Given the description of an element on the screen output the (x, y) to click on. 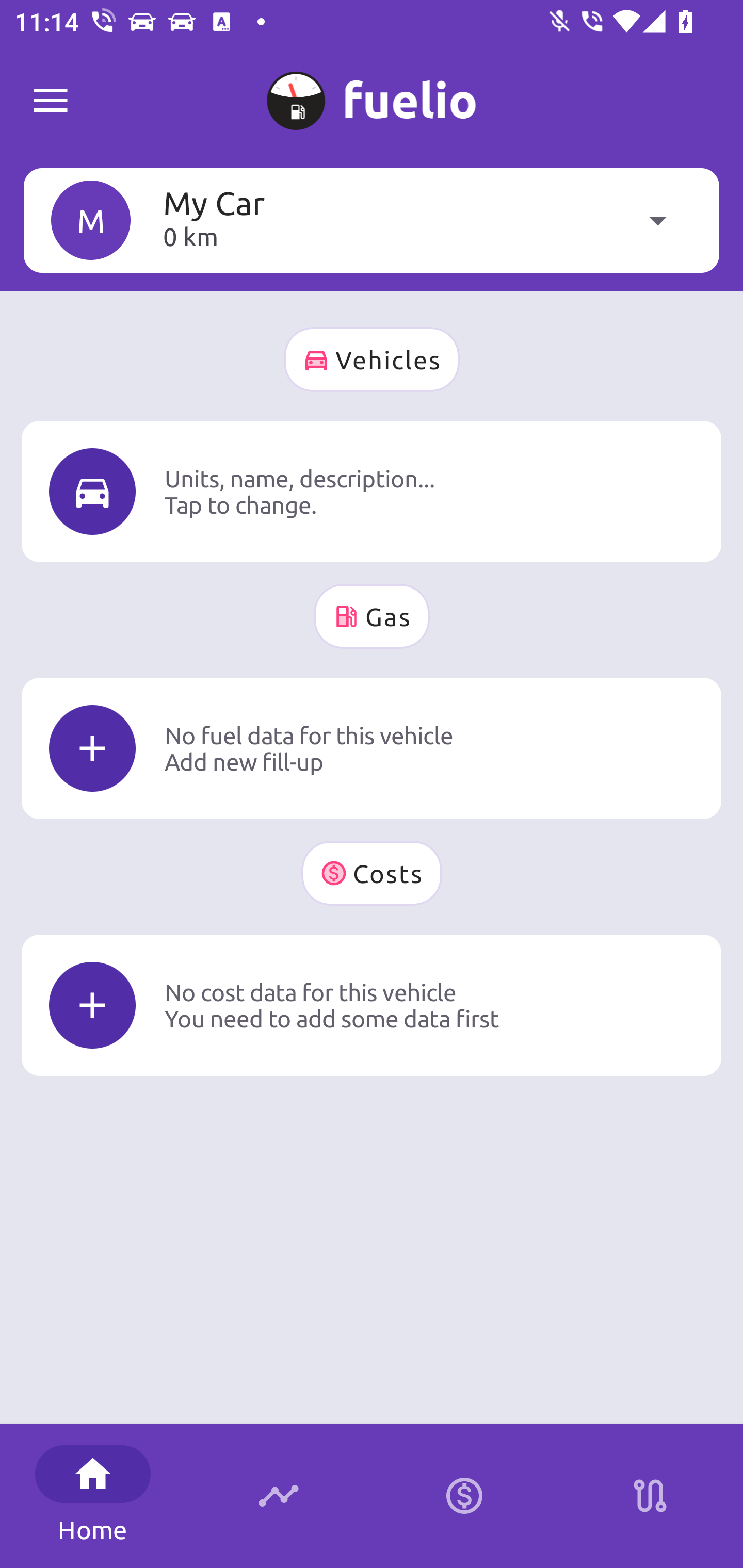
Fuelio (50, 101)
M My Car 0 km (371, 219)
Vehicles (371, 359)
Icon Units, name, description...
Tap to change. (371, 491)
Icon (92, 491)
Gas (371, 616)
Icon No fuel data for this vehicle
Add new fill-up (371, 747)
Icon (92, 748)
Costs (371, 873)
Icon (92, 1004)
Timeline (278, 1495)
Calculator (464, 1495)
Stations on route (650, 1495)
